Given the description of an element on the screen output the (x, y) to click on. 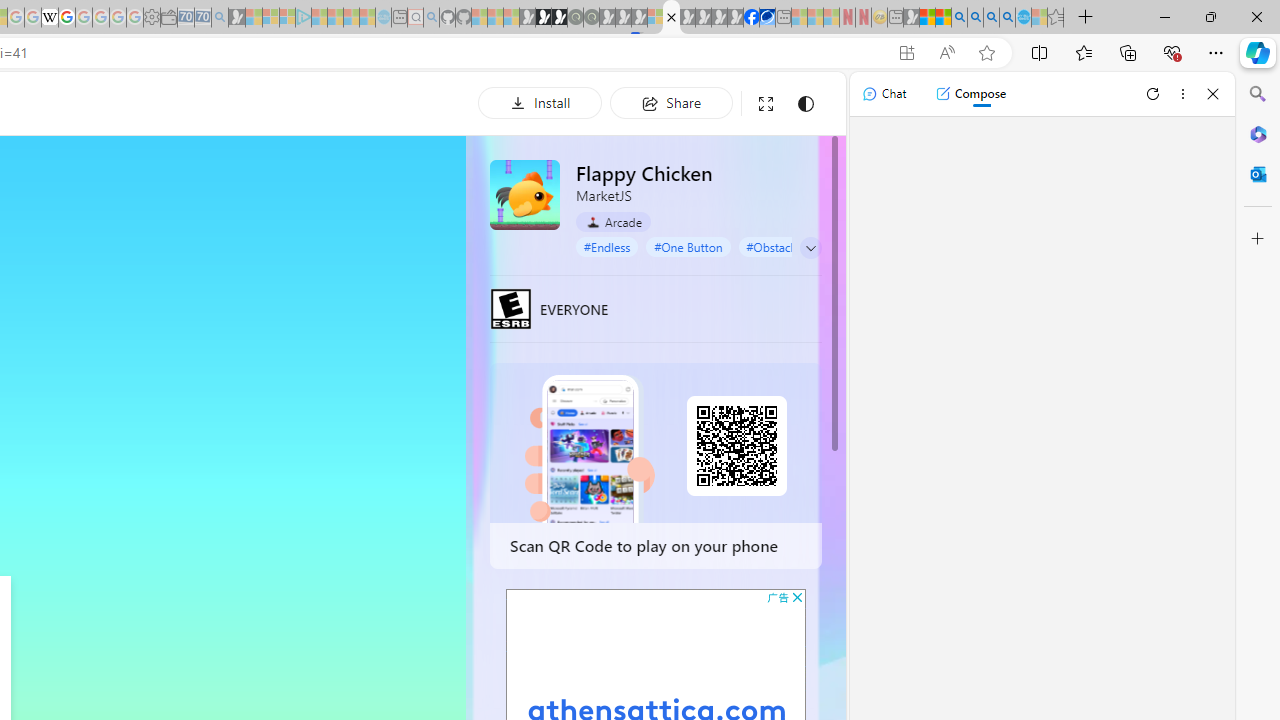
Google Chrome Internet Browser Download - Search Images (1007, 17)
Class: control (811, 248)
Change to dark mode (805, 103)
